Given the description of an element on the screen output the (x, y) to click on. 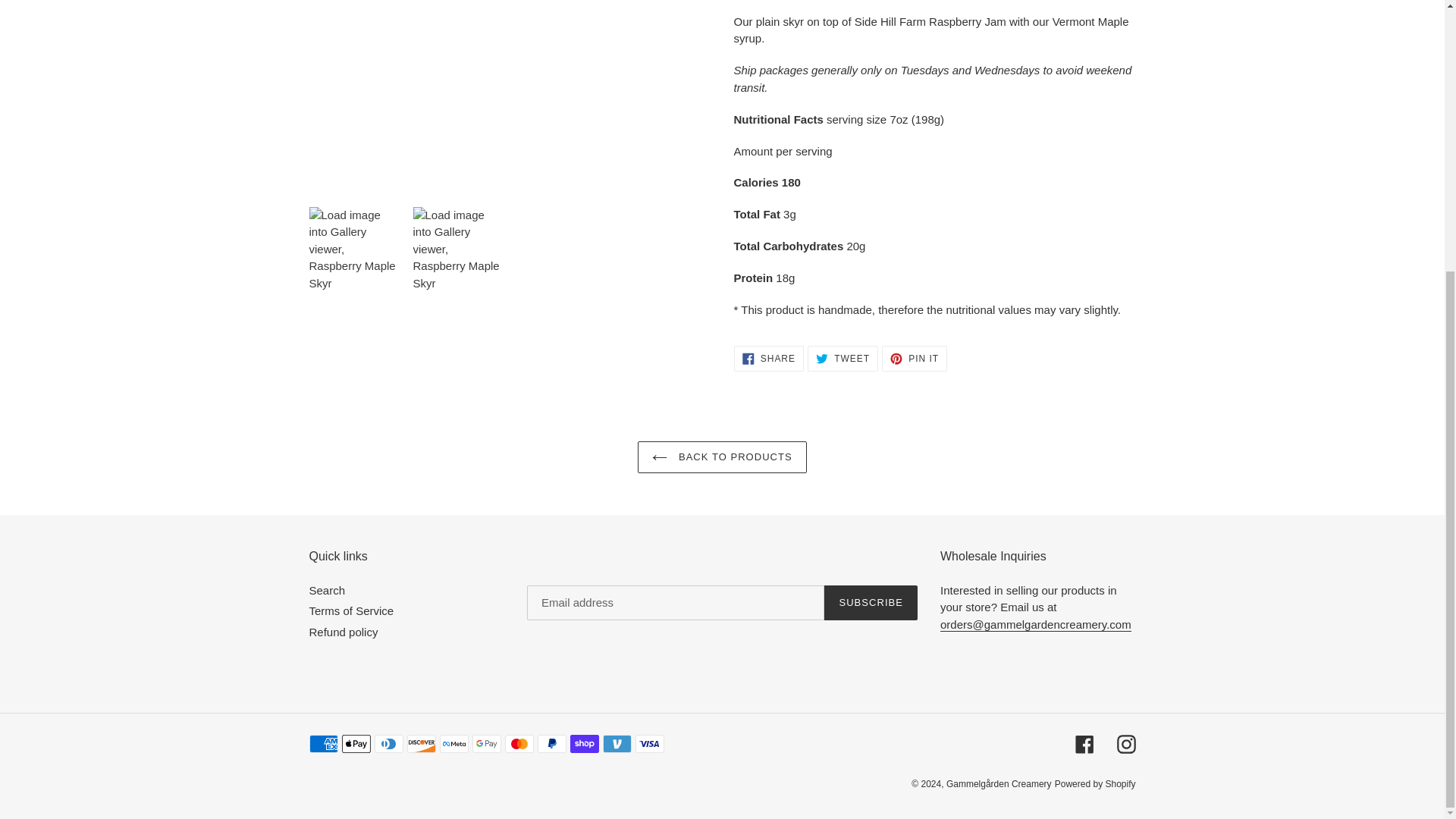
Terms of Service (768, 358)
SUBSCRIBE (351, 610)
Refund policy (842, 358)
Facebook (870, 602)
Contact (343, 631)
Instagram (1084, 743)
Search (1035, 624)
